Given the description of an element on the screen output the (x, y) to click on. 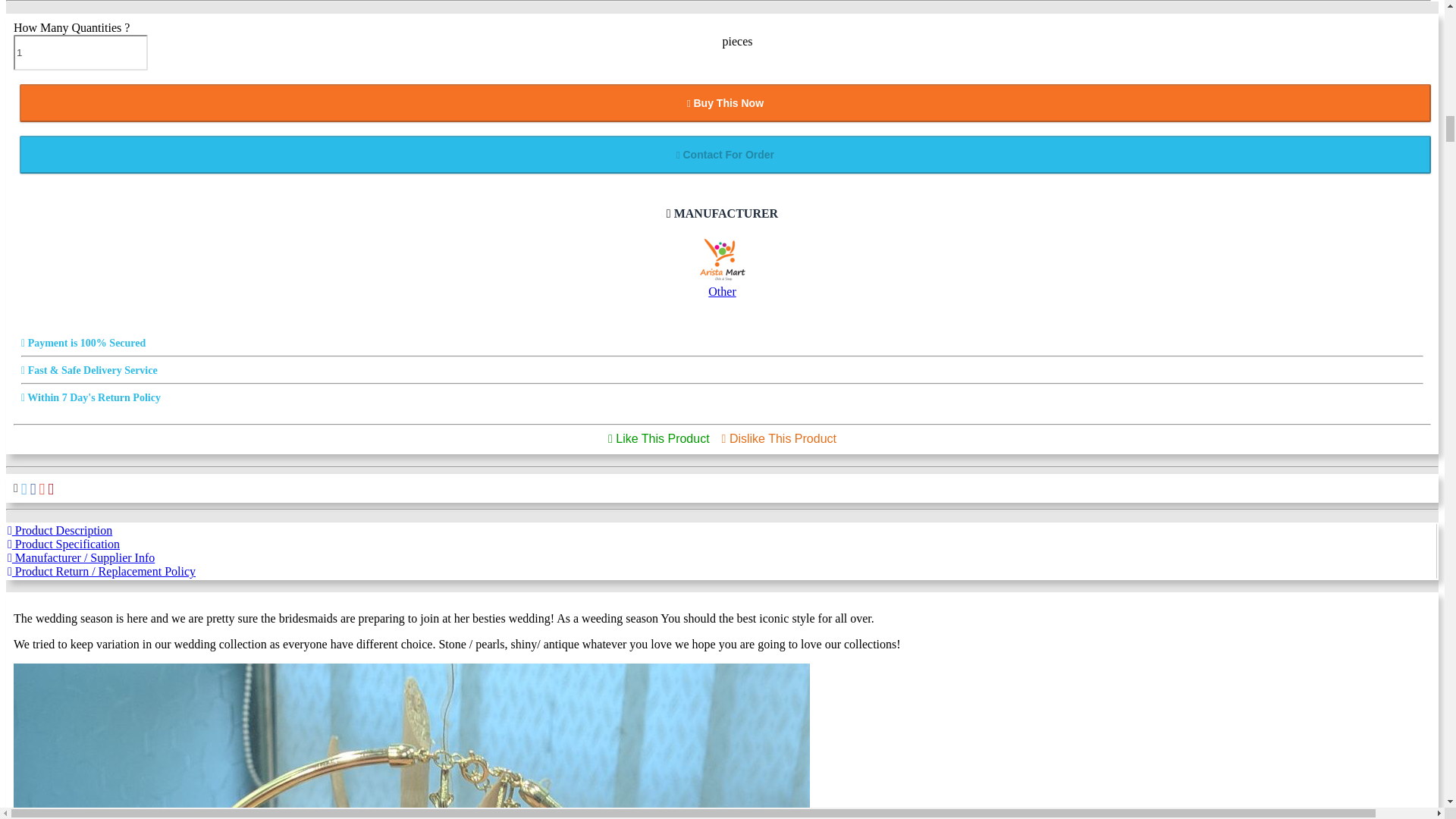
Share on Pinterest (50, 487)
1 (80, 52)
Share on Twitter (24, 487)
Share on Facebook (33, 487)
Other (721, 258)
